Given the description of an element on the screen output the (x, y) to click on. 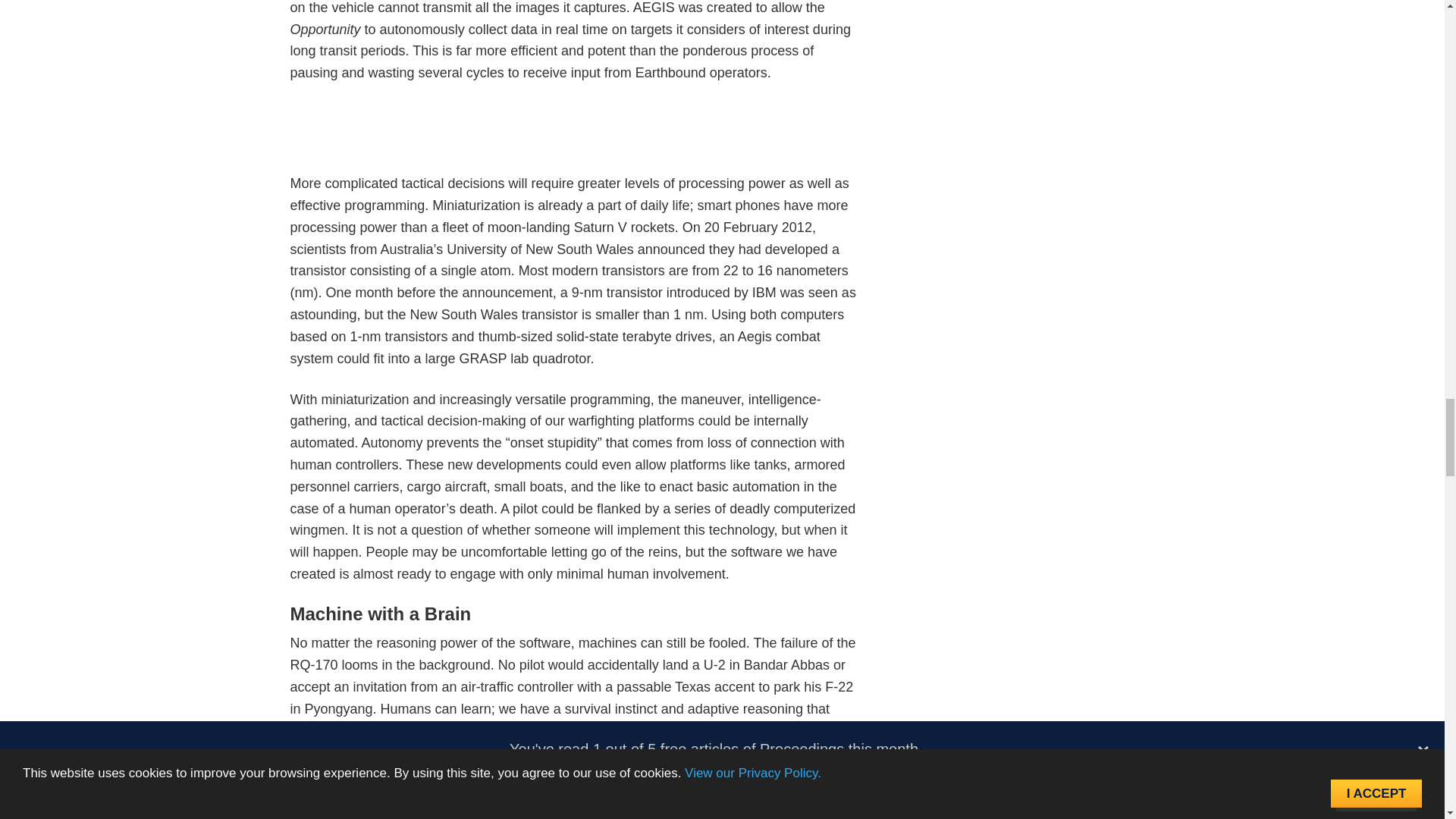
3rd party ad content (574, 137)
